Given the description of an element on the screen output the (x, y) to click on. 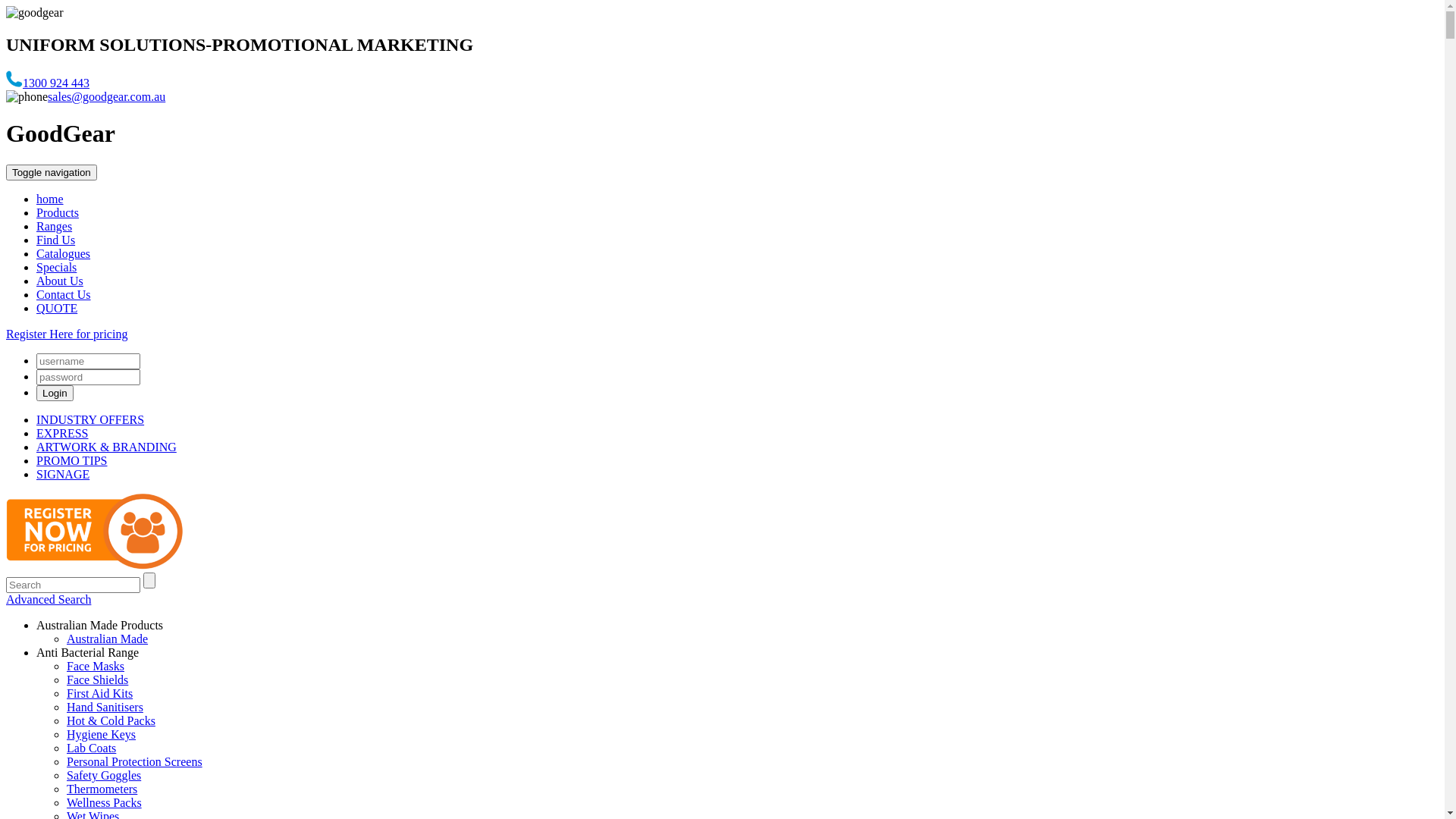
Hygiene Keys Element type: text (100, 734)
1300 924 443 Element type: text (55, 82)
Thermometers Element type: text (101, 788)
Register Here for pricing Element type: text (66, 333)
SIGNAGE Element type: text (62, 473)
Wellness Packs Element type: text (103, 802)
Ranges Element type: text (54, 225)
INDUSTRY OFFERS Element type: text (90, 419)
About Us Element type: text (59, 280)
First Aid Kits Element type: text (99, 693)
sales@goodgear.com.au Element type: text (106, 96)
ARTWORK & BRANDING Element type: text (106, 446)
Hot & Cold Packs Element type: text (110, 720)
Catalogues Element type: text (63, 253)
Personal Protection Screens Element type: text (134, 761)
Advanced Search Element type: text (48, 599)
Safety Goggles Element type: text (103, 774)
Contact Us Element type: text (63, 294)
Products Element type: text (57, 212)
Toggle navigation Element type: text (51, 172)
home Element type: text (49, 198)
Login Element type: text (54, 393)
Specials Element type: text (56, 266)
EXPRESS Element type: text (61, 432)
Find Us Element type: text (55, 239)
Face Shields Element type: text (97, 679)
Australian Made Element type: text (106, 638)
Lab Coats Element type: text (91, 747)
Hand Sanitisers Element type: text (104, 706)
Face Masks Element type: text (95, 665)
QUOTE Element type: text (56, 307)
PROMO TIPS Element type: text (71, 460)
